Given the description of an element on the screen output the (x, y) to click on. 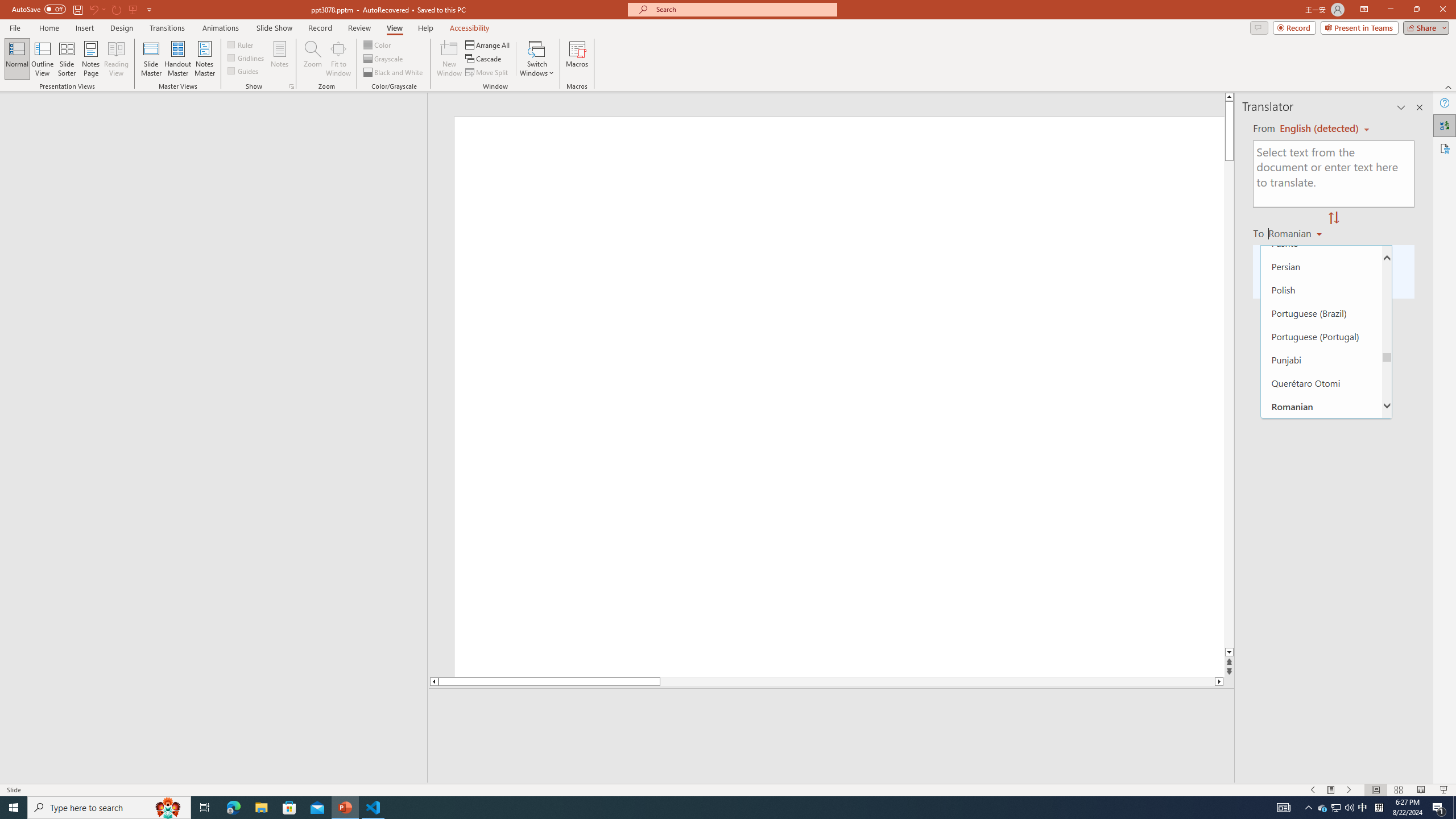
Spanish (1320, 755)
Notes (279, 58)
Sinhala (1320, 662)
Macros (576, 58)
New Window (449, 58)
Serbian (Cyrillic) (1320, 499)
Shona (1320, 615)
